Given the description of an element on the screen output the (x, y) to click on. 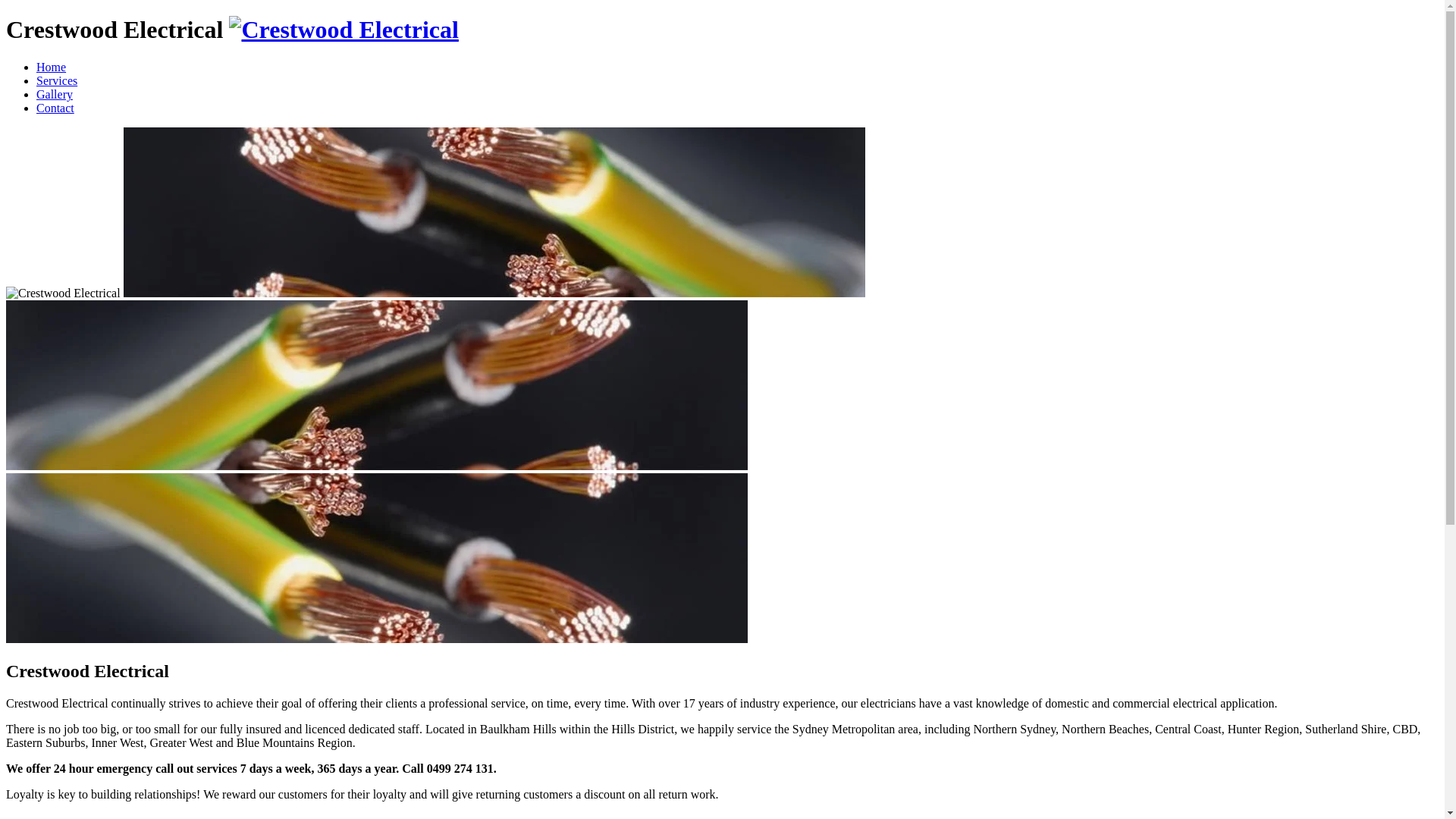
Gallery Element type: text (54, 93)
Crestwood Electrical Element type: hover (343, 29)
Contact Element type: text (55, 107)
Services Element type: text (56, 80)
Home Element type: text (50, 66)
